Given the description of an element on the screen output the (x, y) to click on. 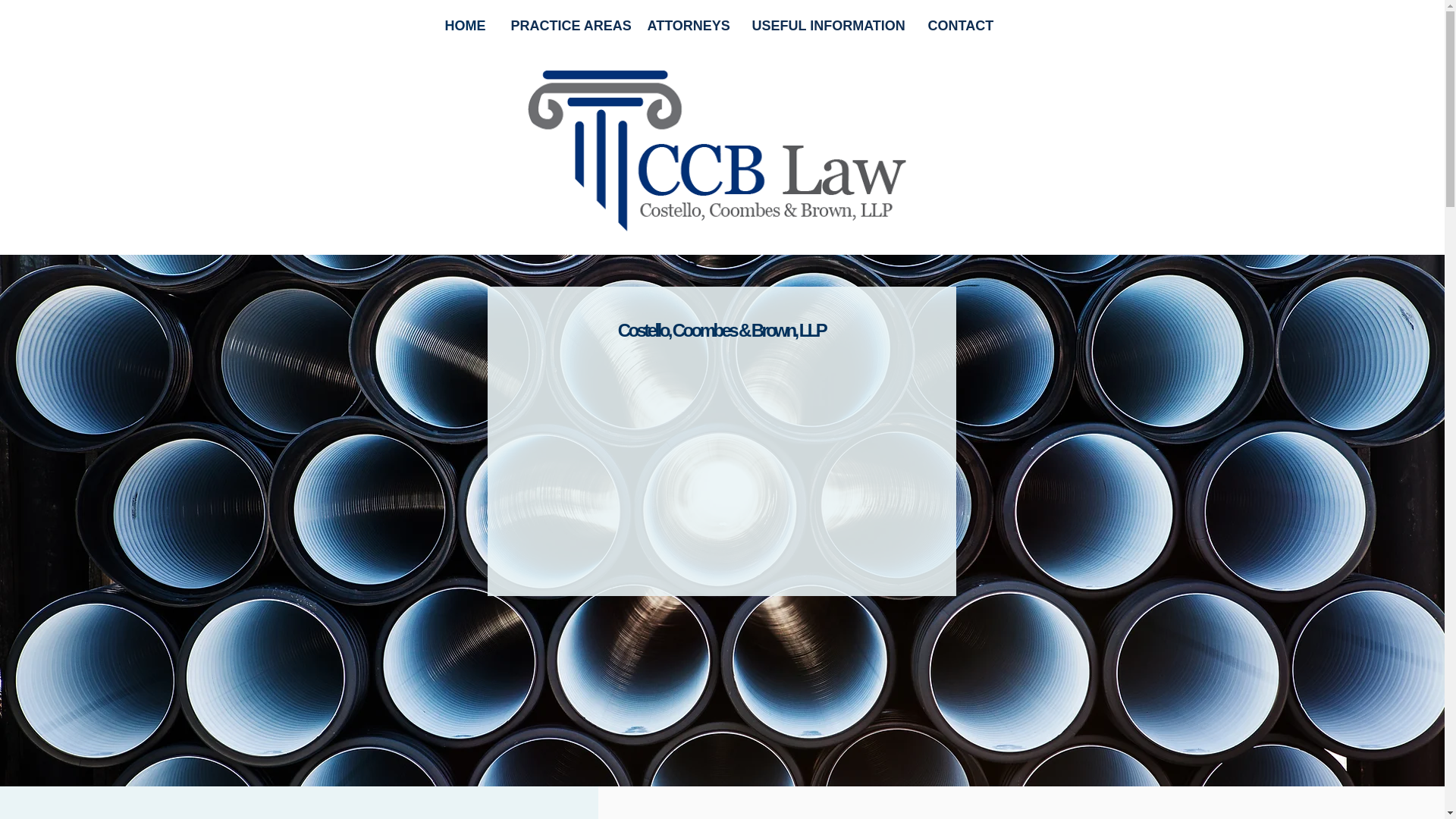
ATTORNEYS (686, 25)
HOME (466, 25)
PRACTICE AREAS (566, 25)
USEFUL INFORMATION (827, 25)
CONTACT (959, 25)
